Given the description of an element on the screen output the (x, y) to click on. 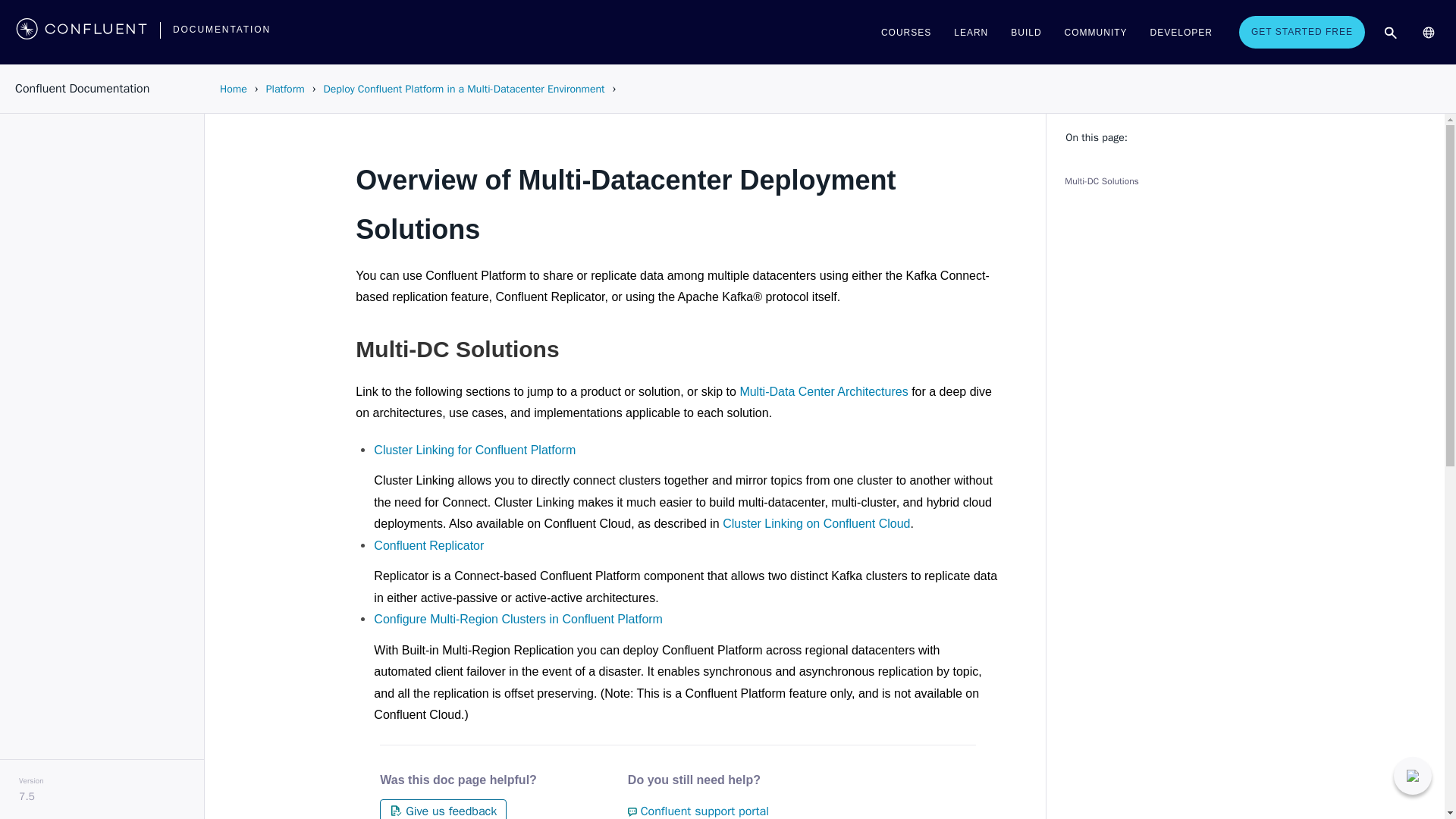
Documentation (221, 29)
DOCUMENTATION (221, 29)
Confluent (81, 31)
